Given the description of an element on the screen output the (x, y) to click on. 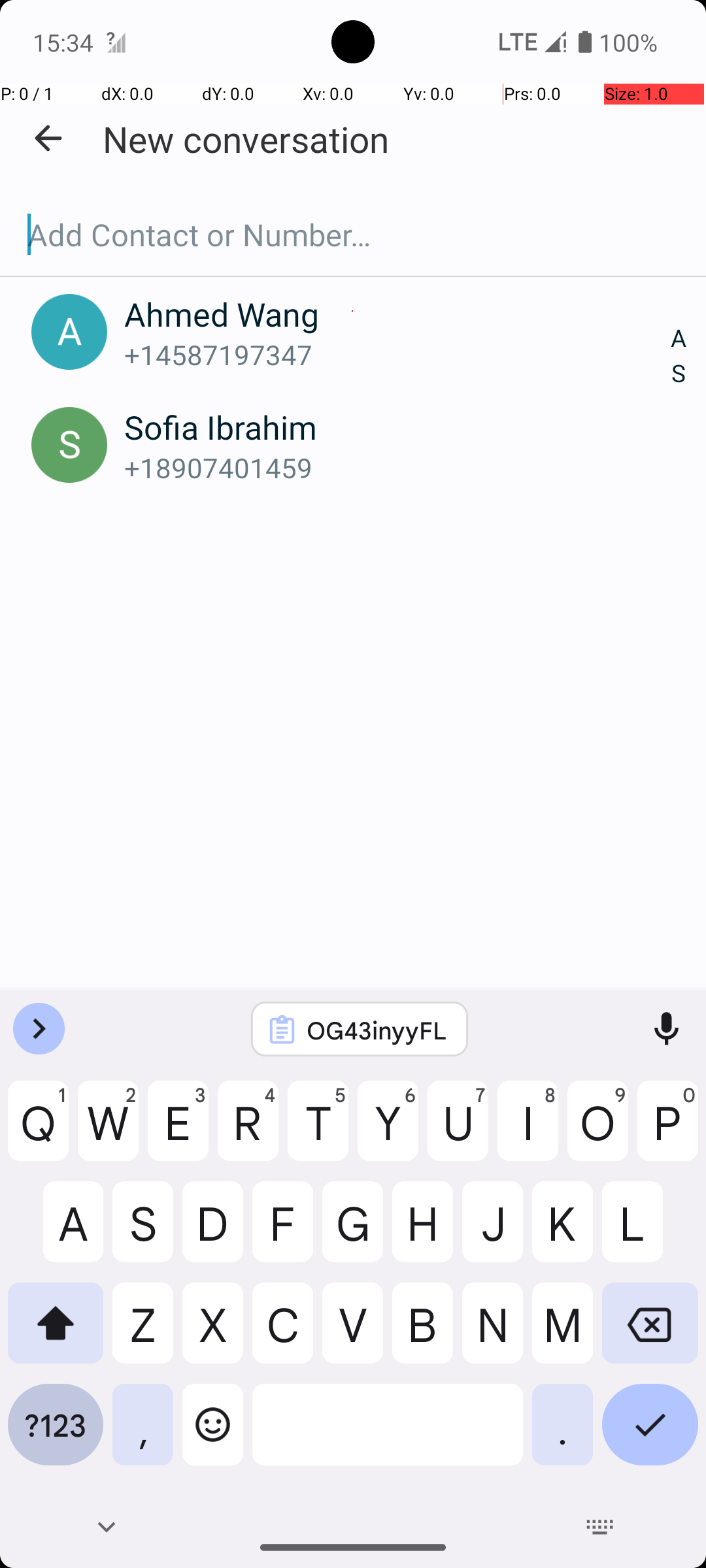
A
S Element type: android.widget.TextView (678, 356)
+14587197347 Element type: android.widget.TextView (397, 354)
+18907401459 Element type: android.widget.TextView (397, 467)
OG43inyyFL Element type: android.widget.TextView (376, 1029)
